Given the description of an element on the screen output the (x, y) to click on. 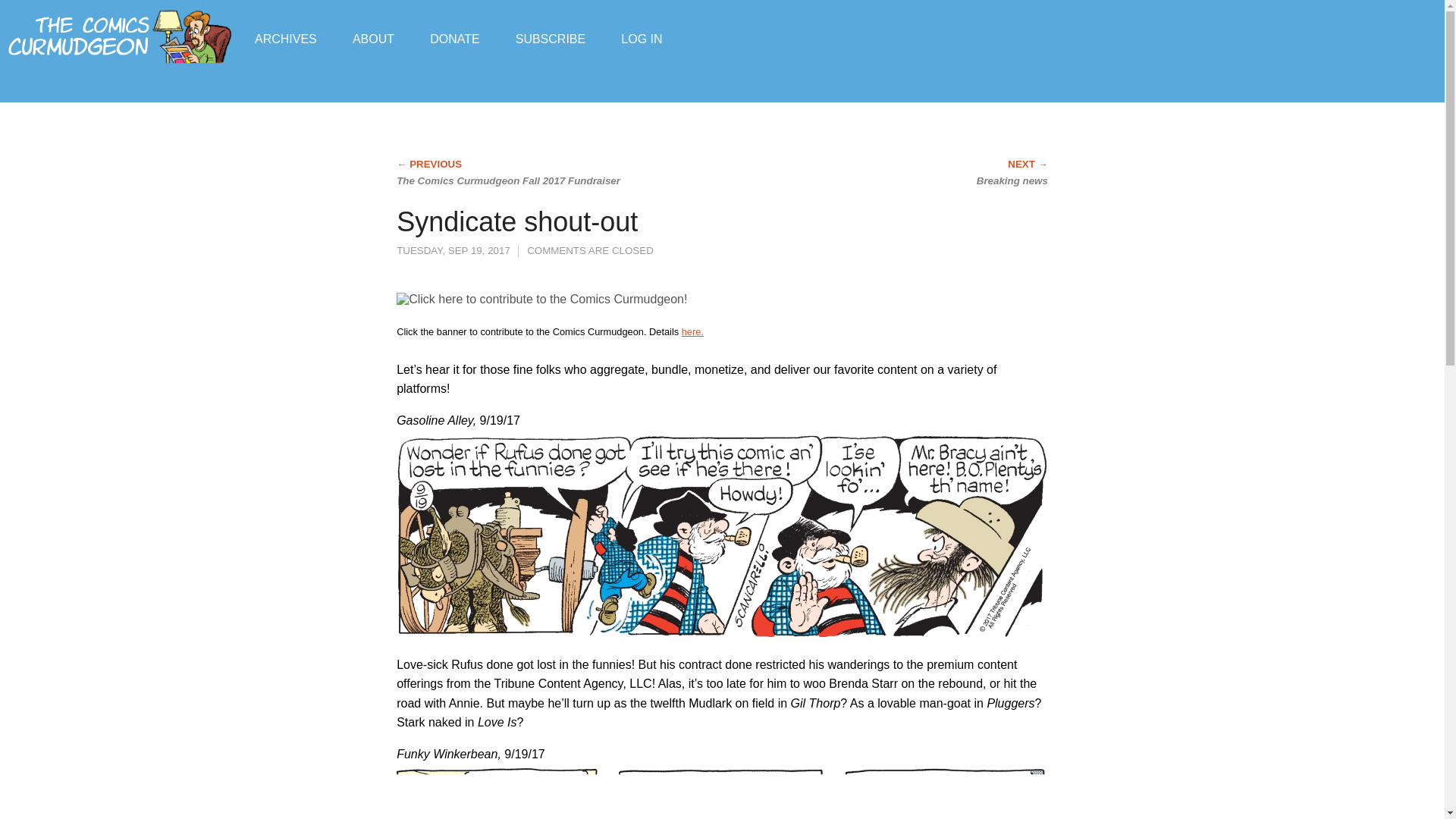
LOG IN (641, 38)
Syndicate shout-out (516, 221)
here. (692, 331)
ABOUT (373, 38)
ARCHIVES (285, 38)
Breaking news (921, 172)
DONATE (454, 38)
The Comics Curmudgeon Fall 2017 Fundraiser (522, 172)
SUBSCRIBE (550, 38)
Fundraiser details (692, 331)
